Given the description of an element on the screen output the (x, y) to click on. 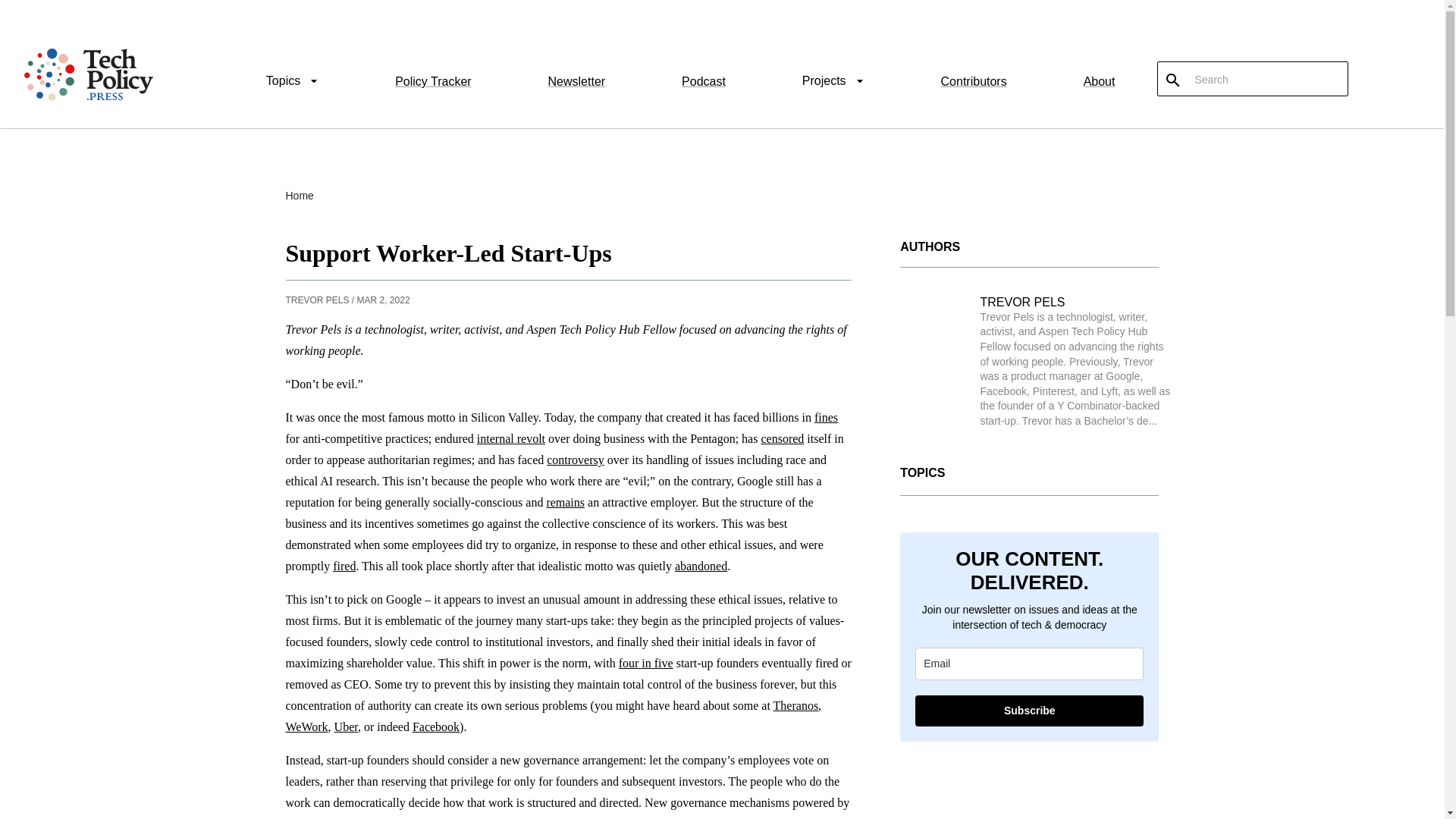
Uber (346, 726)
Theranos (795, 705)
TREVOR PELS (1021, 301)
abandoned (700, 565)
Facebook (436, 726)
censored (781, 438)
Subscribe (1028, 710)
Projects (833, 83)
WeWork (306, 726)
Topics (292, 83)
controversy (575, 459)
fines (825, 417)
Contributors (973, 81)
four in five (645, 662)
fired (344, 565)
